Given the description of an element on the screen output the (x, y) to click on. 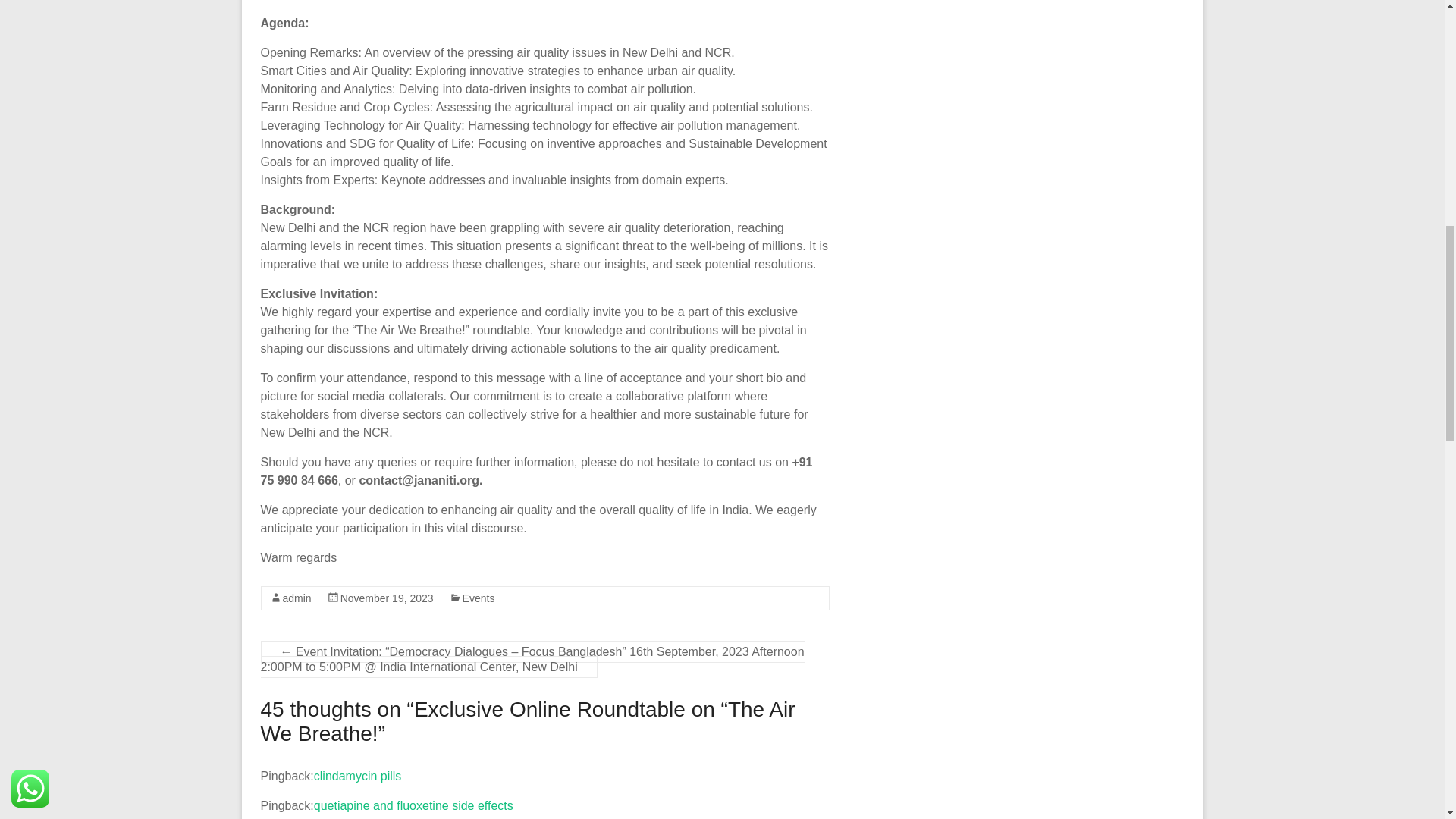
5:47 am (386, 598)
